Given the description of an element on the screen output the (x, y) to click on. 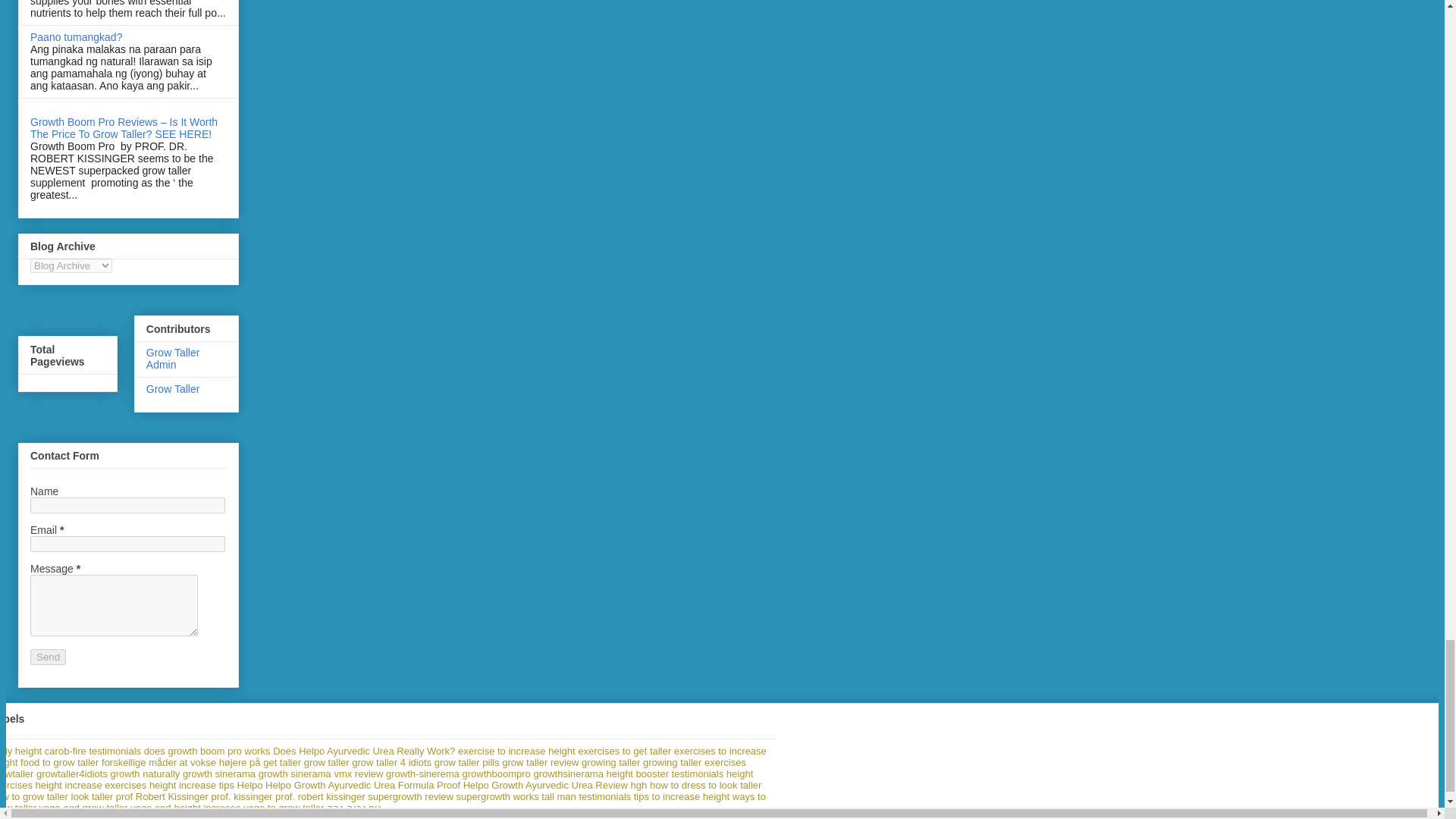
Send (47, 657)
